Given the description of an element on the screen output the (x, y) to click on. 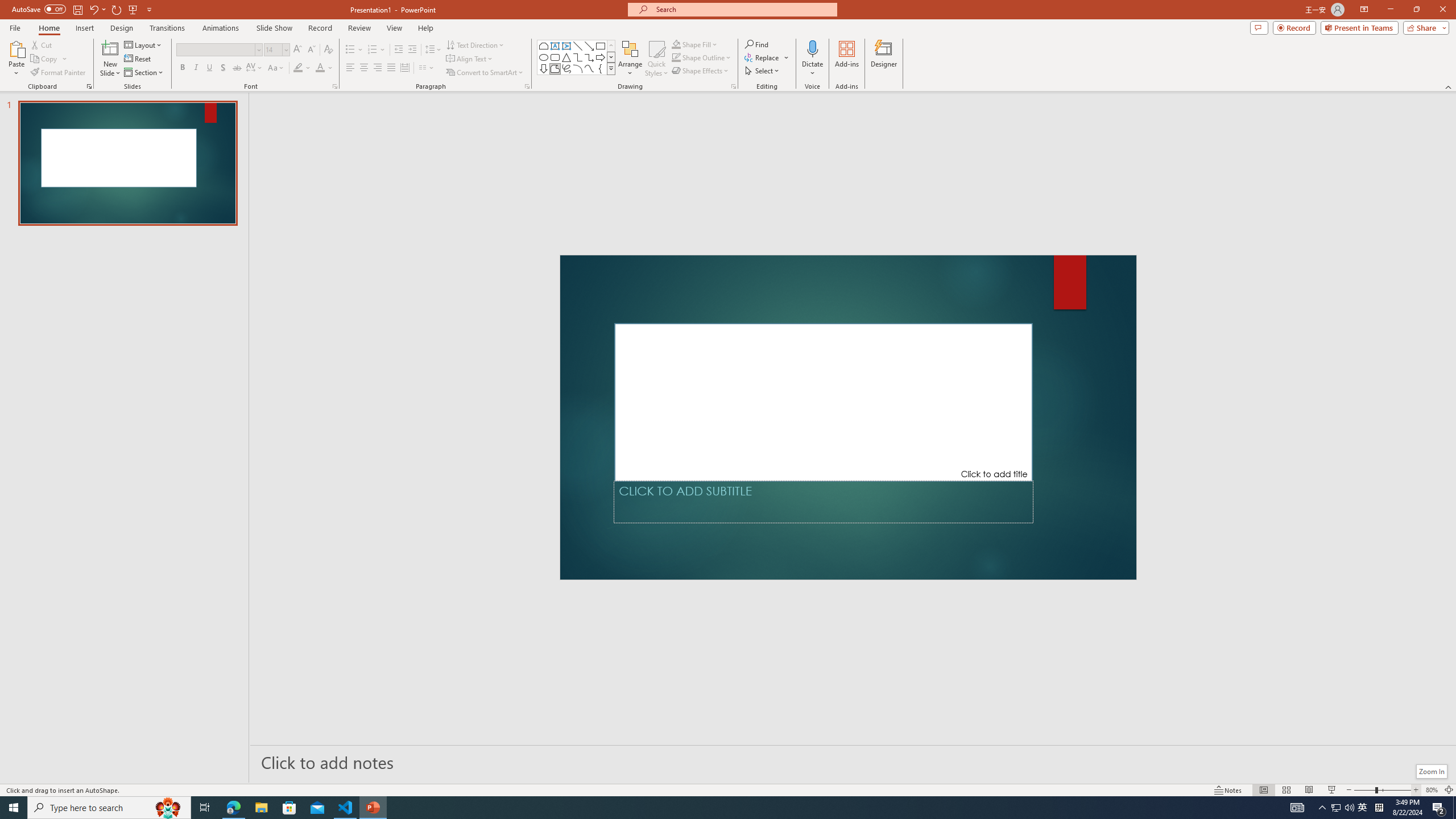
Title TextBox (823, 401)
